Given the description of an element on the screen output the (x, y) to click on. 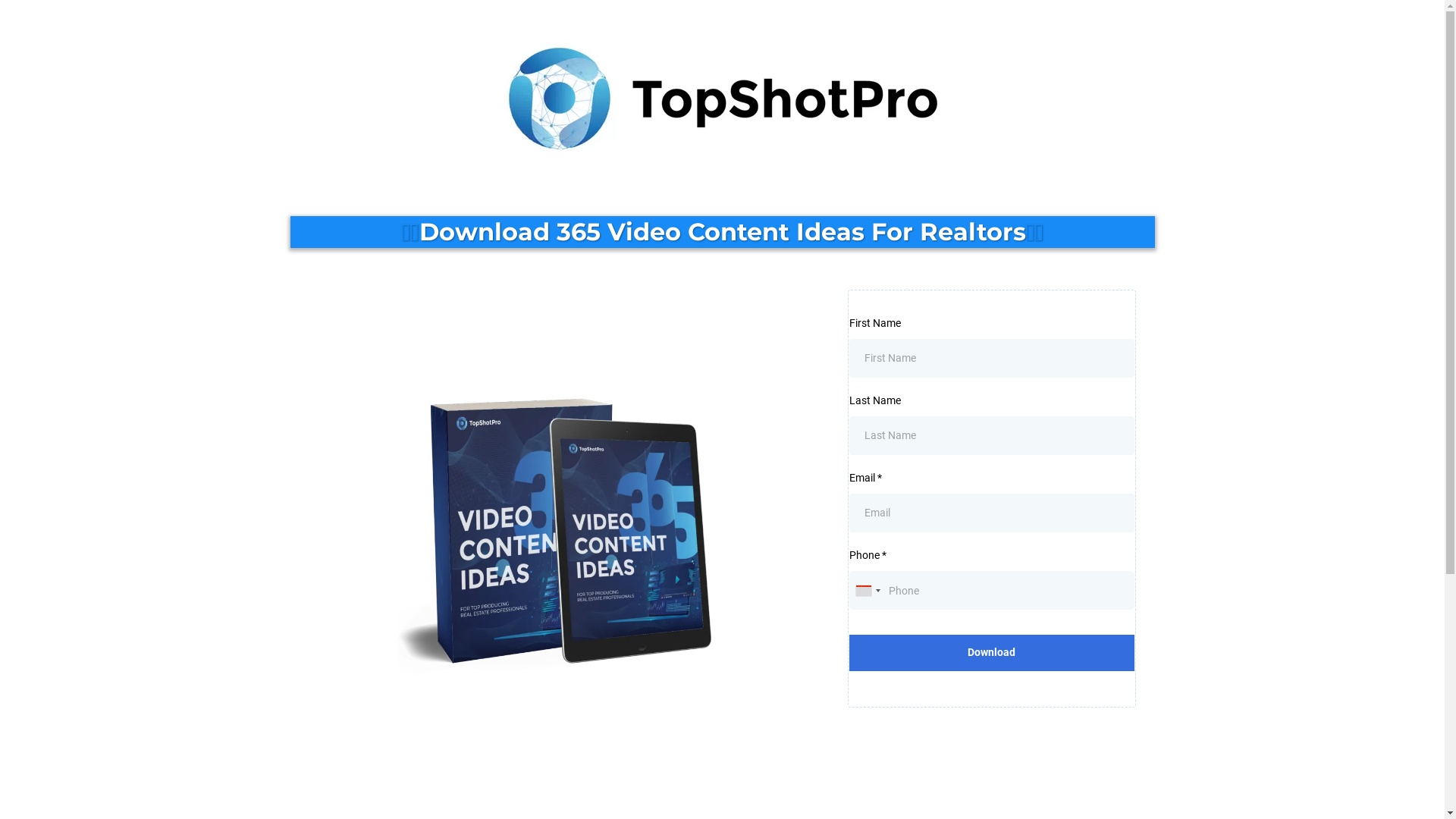
China: +86 Element type: hover (867, 589)
Download Element type: text (991, 652)
